Given the description of an element on the screen output the (x, y) to click on. 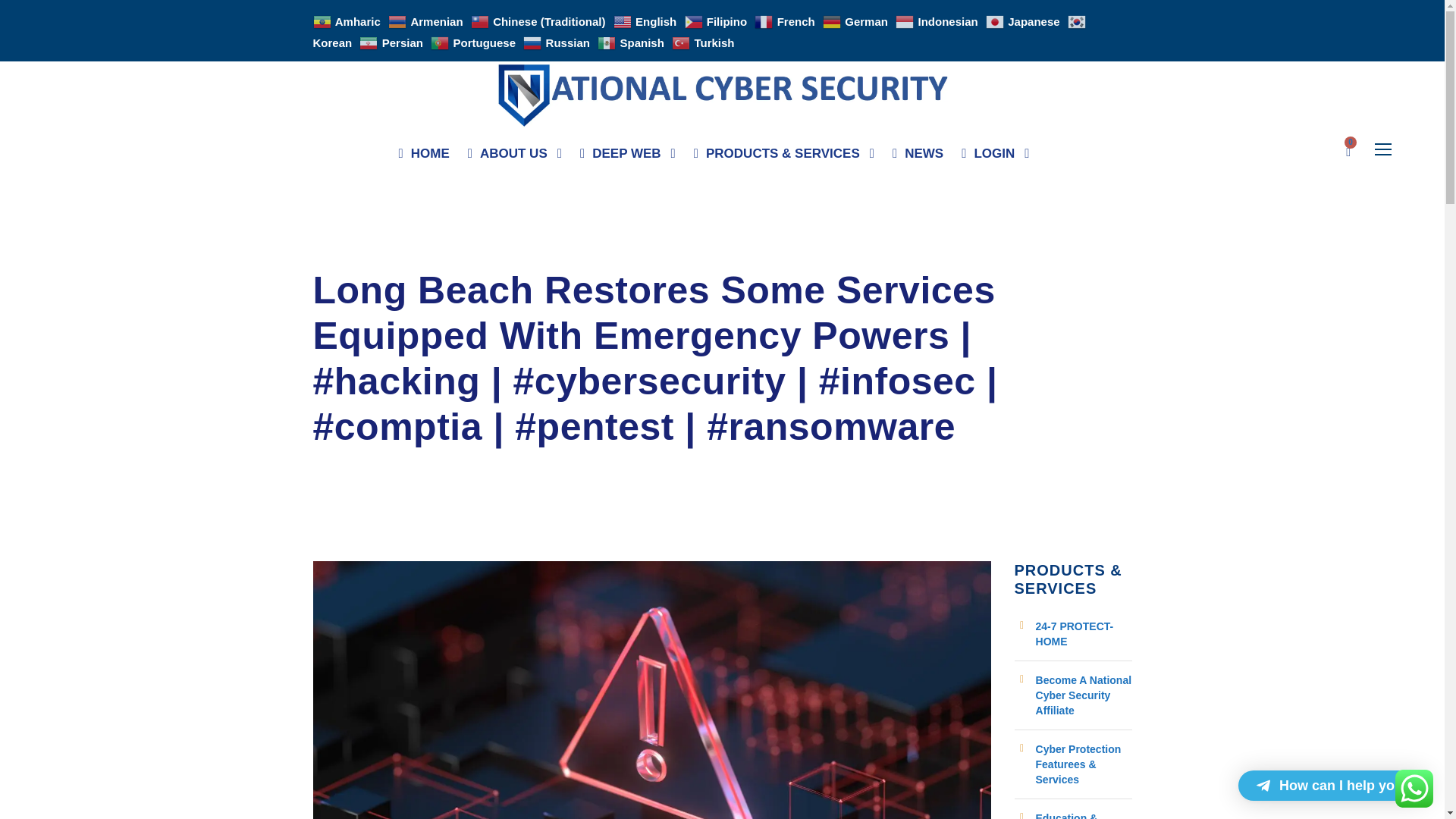
Posts by Natioinal Cyber Security Training Academy Corp (443, 254)
